Given the description of an element on the screen output the (x, y) to click on. 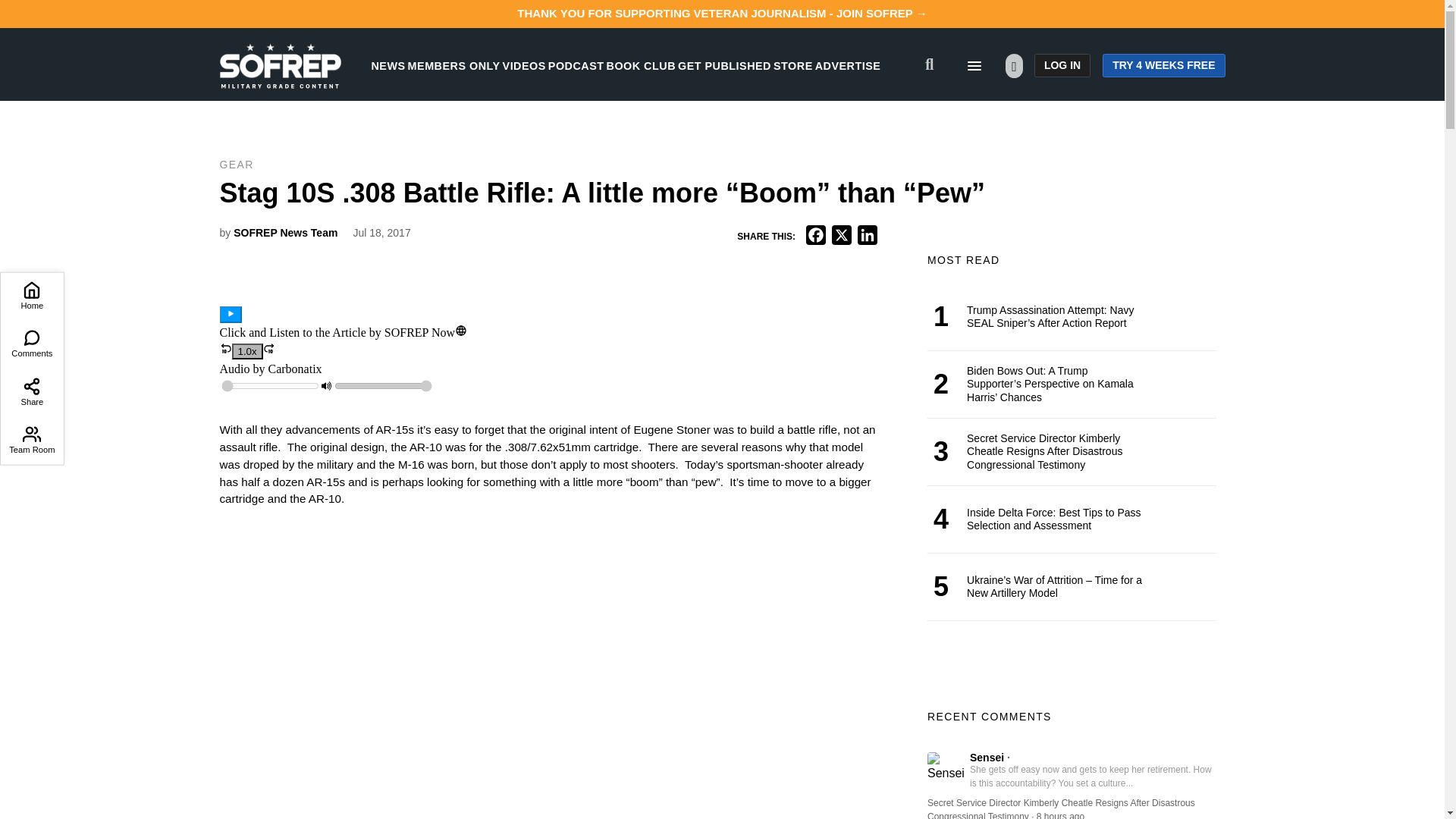
TRY 4 WEEKS FREE (1163, 65)
LOG IN (1061, 65)
MEMBERS ONLY (453, 65)
VIDEOS (524, 65)
ADVERTISE (847, 65)
STORE (792, 65)
BOOK CLUB (641, 65)
PODCAST (576, 65)
NEWS (388, 65)
GET PUBLISHED (724, 65)
